Given the description of an element on the screen output the (x, y) to click on. 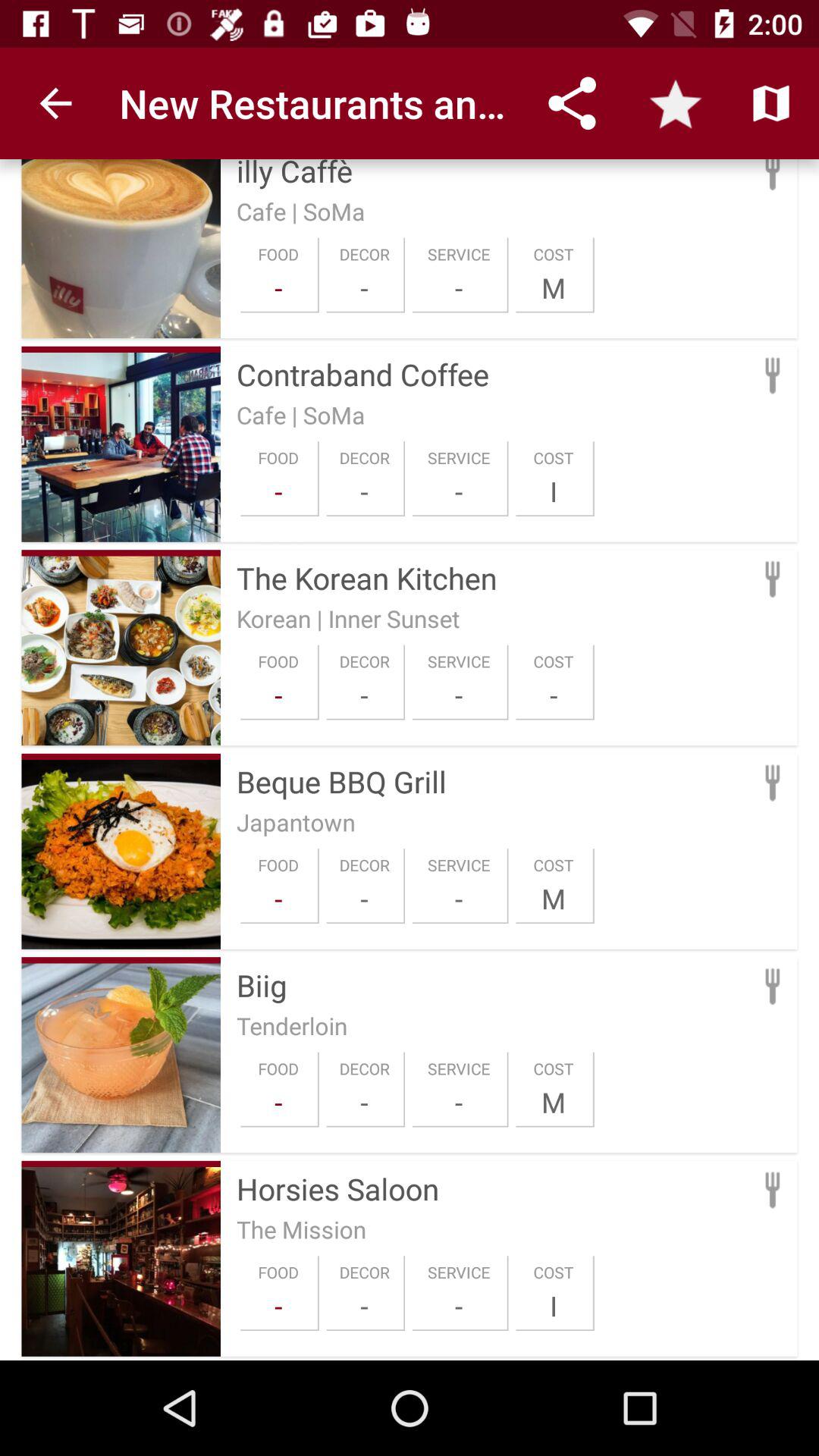
launch item to the left of cost item (458, 694)
